Given the description of an element on the screen output the (x, y) to click on. 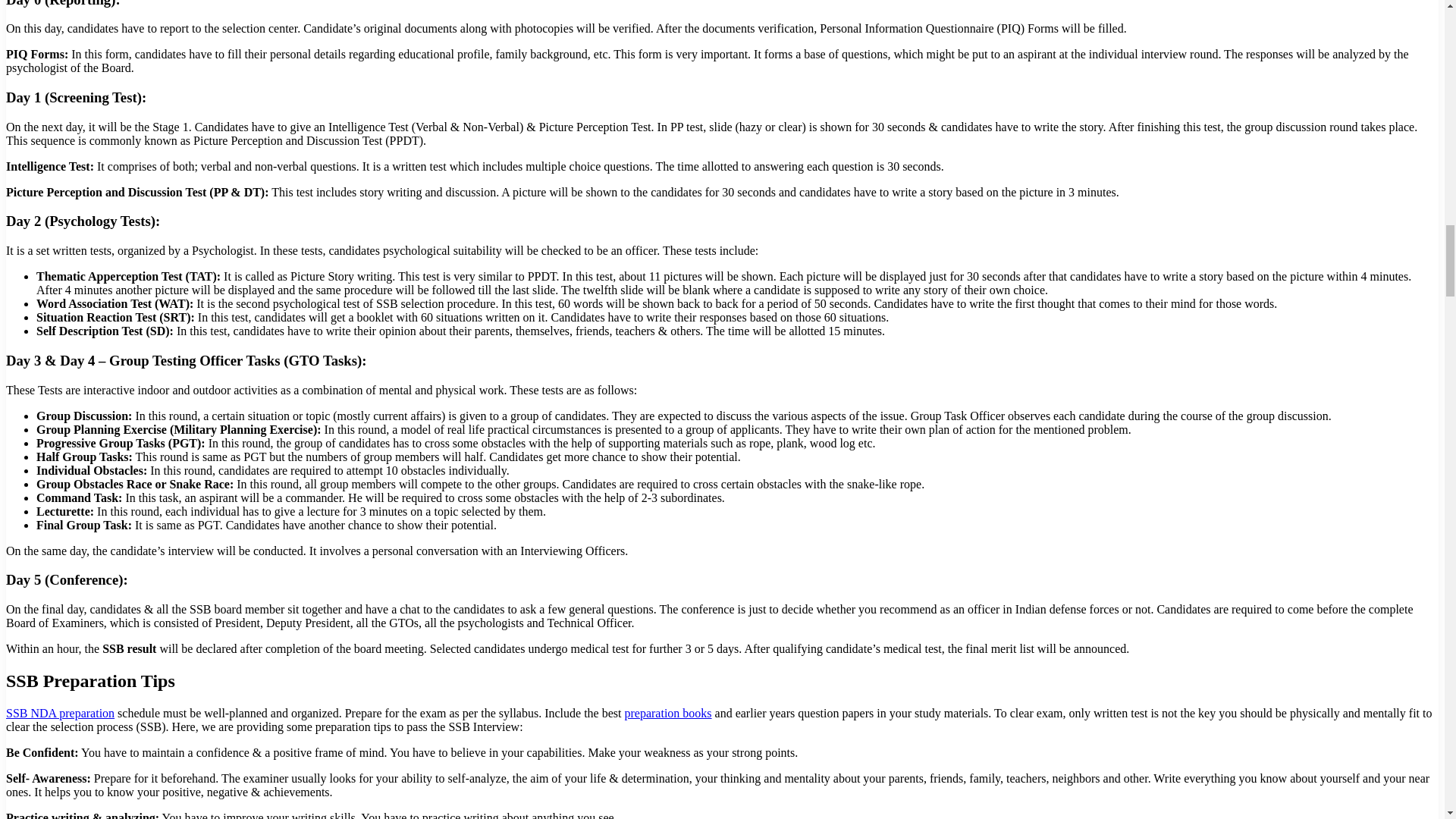
preparation books (667, 712)
SSB NDA preparation (60, 712)
